Given the description of an element on the screen output the (x, y) to click on. 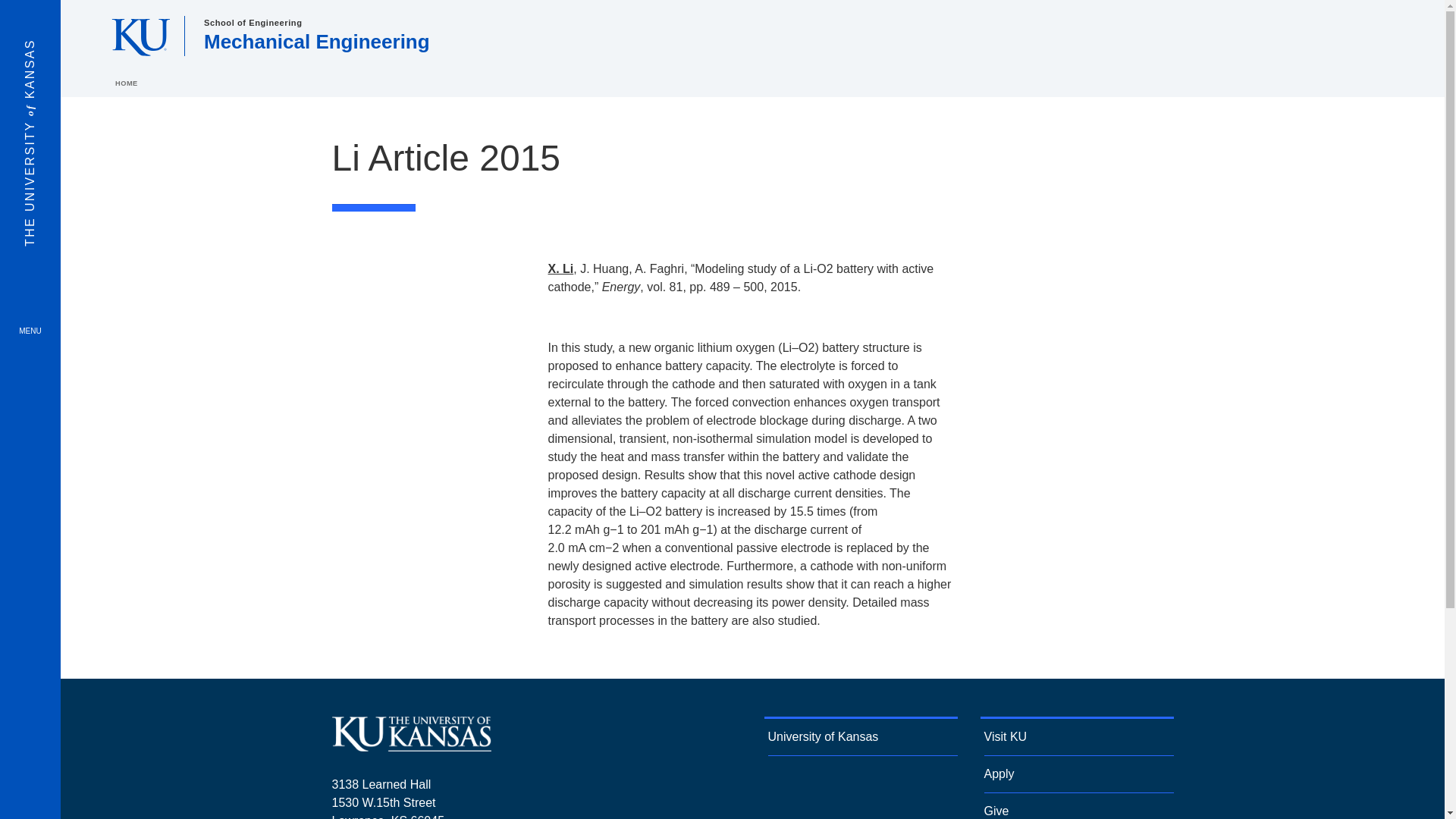
School of Engineering (252, 22)
The University of Kansas (411, 744)
